Given the description of an element on the screen output the (x, y) to click on. 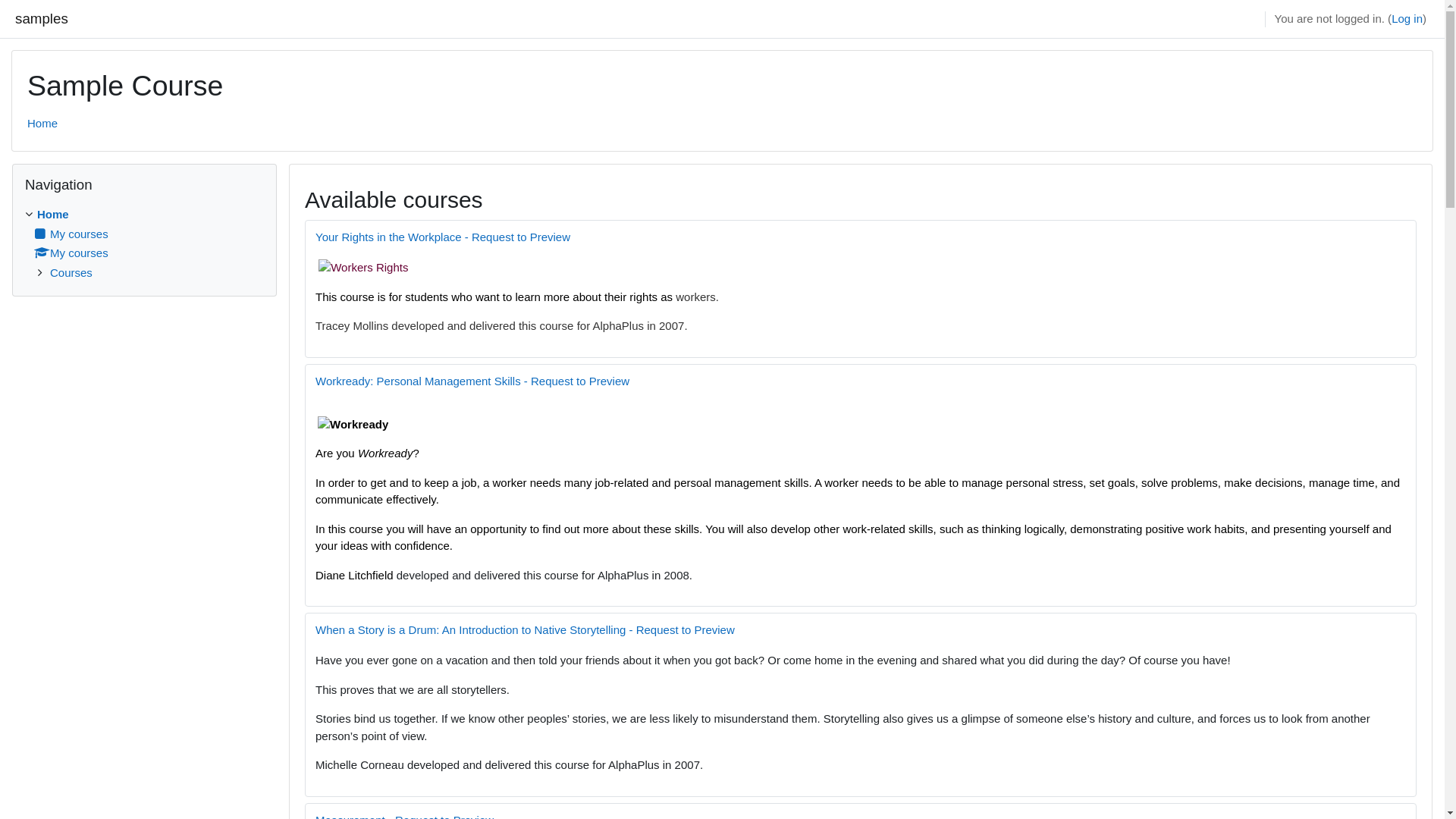
My courses Element type: text (71, 252)
Skip Navigation Element type: text (11, 162)
samples Element type: text (41, 18)
Home Element type: text (53, 213)
Workready Element type: hover (352, 424)
Your Rights in the Workplace - Request to Preview Element type: text (442, 236)
Courses Element type: text (71, 271)
My courses Element type: text (71, 233)
Log in Element type: text (1406, 19)
Home Element type: text (42, 122)
Workready: Personal Management Skills - Request to Preview Element type: text (472, 380)
